Given the description of an element on the screen output the (x, y) to click on. 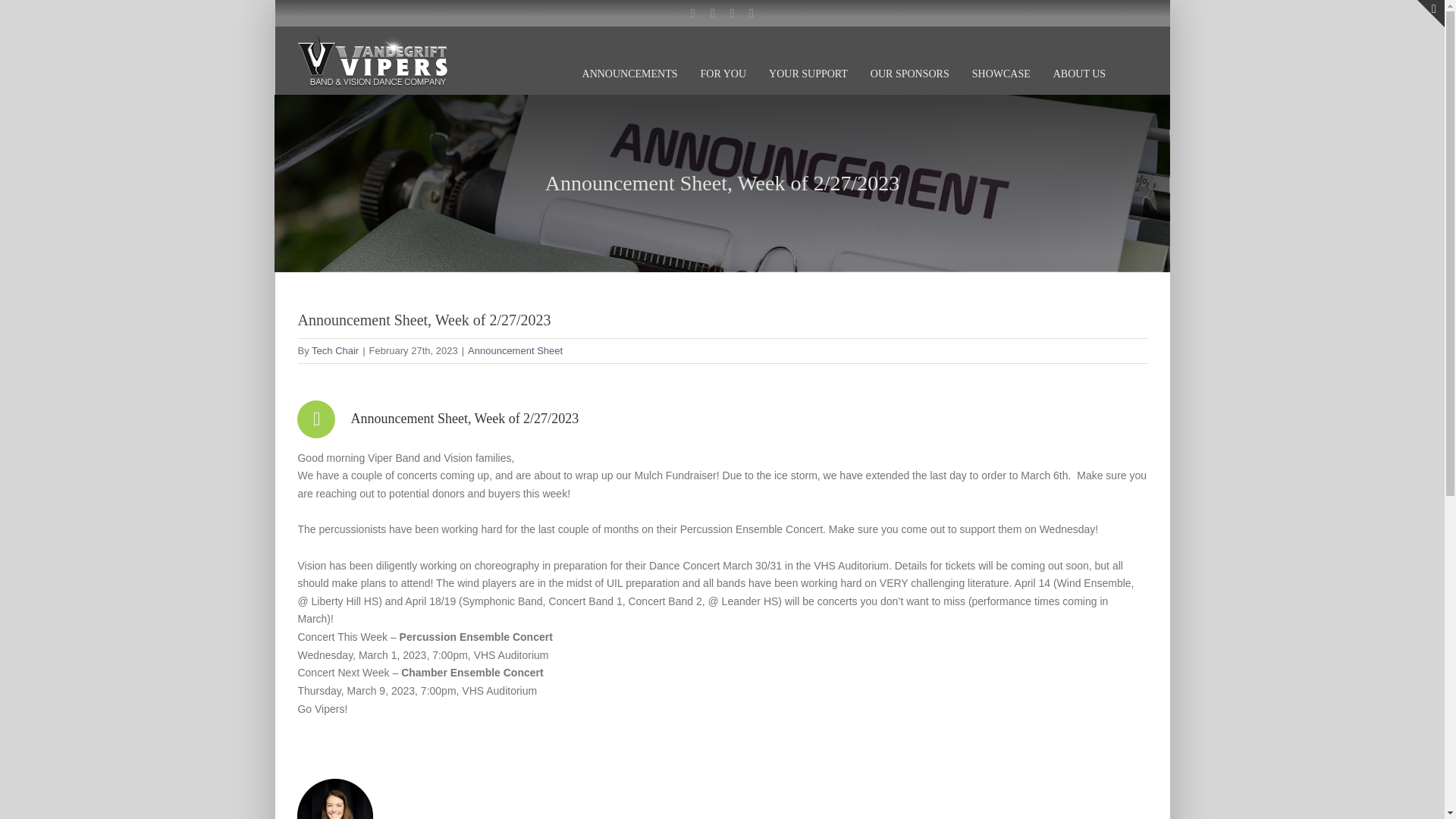
ABOUT US (1078, 57)
OUR SPONSORS (909, 57)
YOUR SUPPORT (807, 57)
Tech Chair (334, 350)
ANNOUNCEMENTS (630, 57)
Announcement Sheet (514, 350)
SHOWCASE (1001, 57)
Posts by Tech Chair (334, 350)
